Given the description of an element on the screen output the (x, y) to click on. 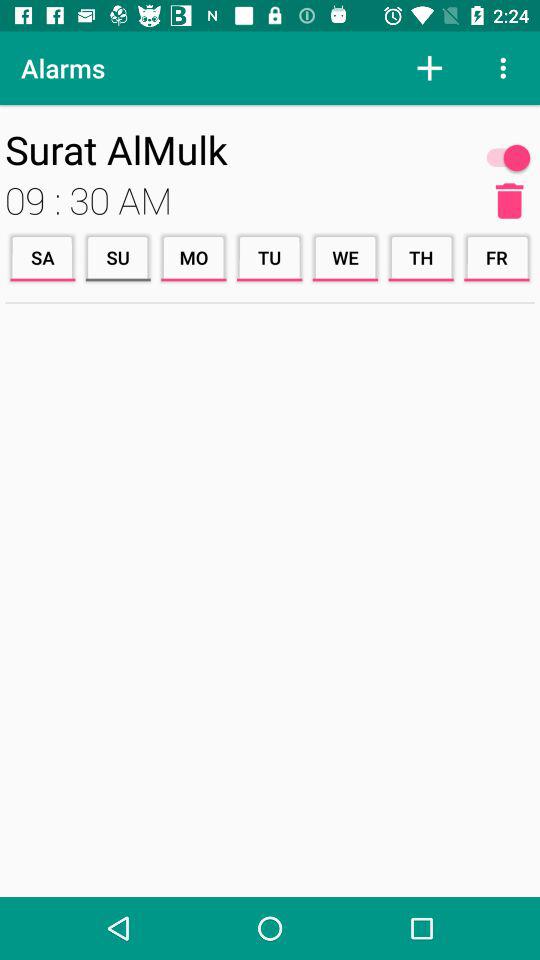
launch the icon to the right of mo (269, 257)
